Given the description of an element on the screen output the (x, y) to click on. 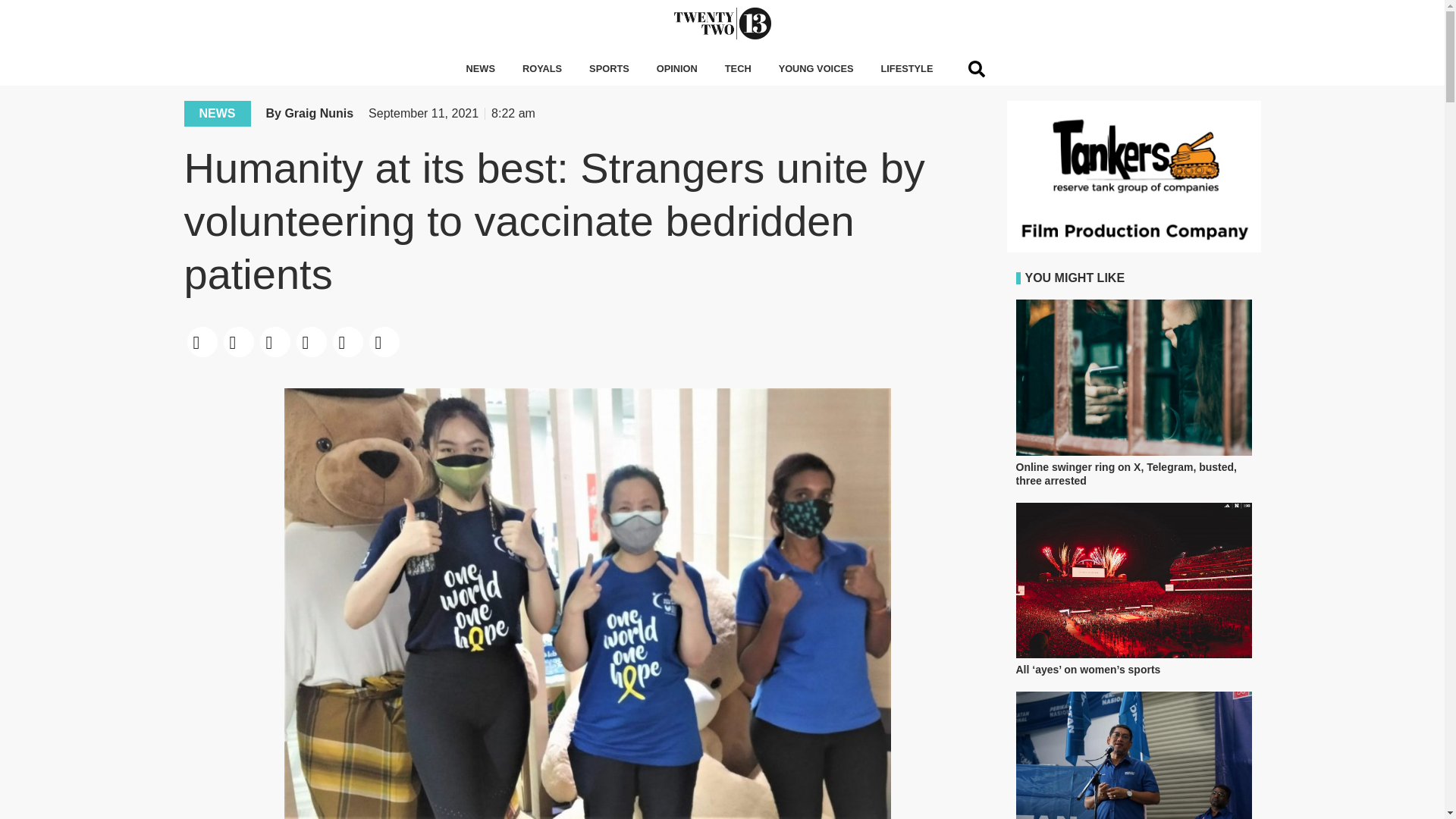
LIFESTYLE (906, 68)
ROYALS (541, 68)
LinkedIn (274, 341)
OPINION (677, 68)
NEWS (480, 68)
Copy Link (383, 341)
Telegram (347, 341)
TECH (738, 68)
YOUNG VOICES (816, 68)
SPORTS (609, 68)
